Given the description of an element on the screen output the (x, y) to click on. 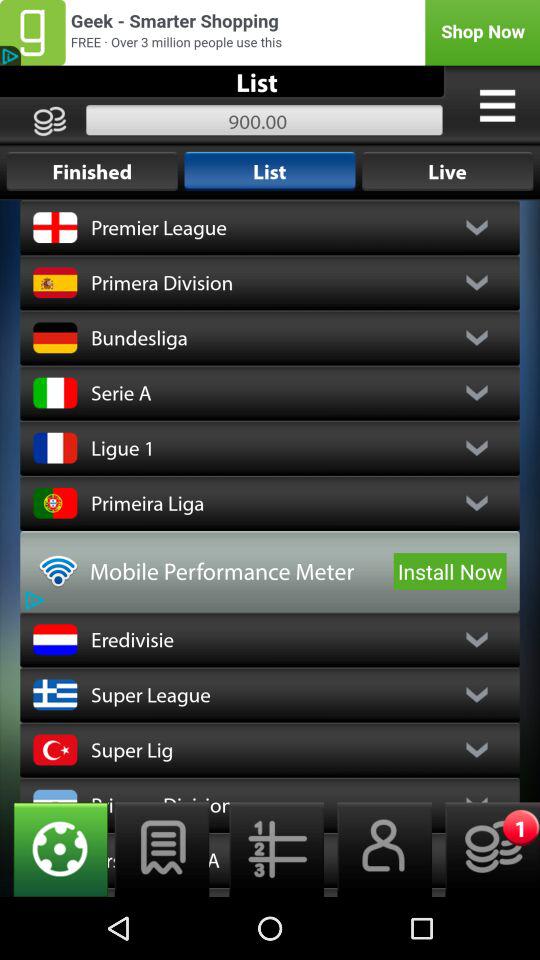
press the item above the  fa cup icon (161, 849)
